Given the description of an element on the screen output the (x, y) to click on. 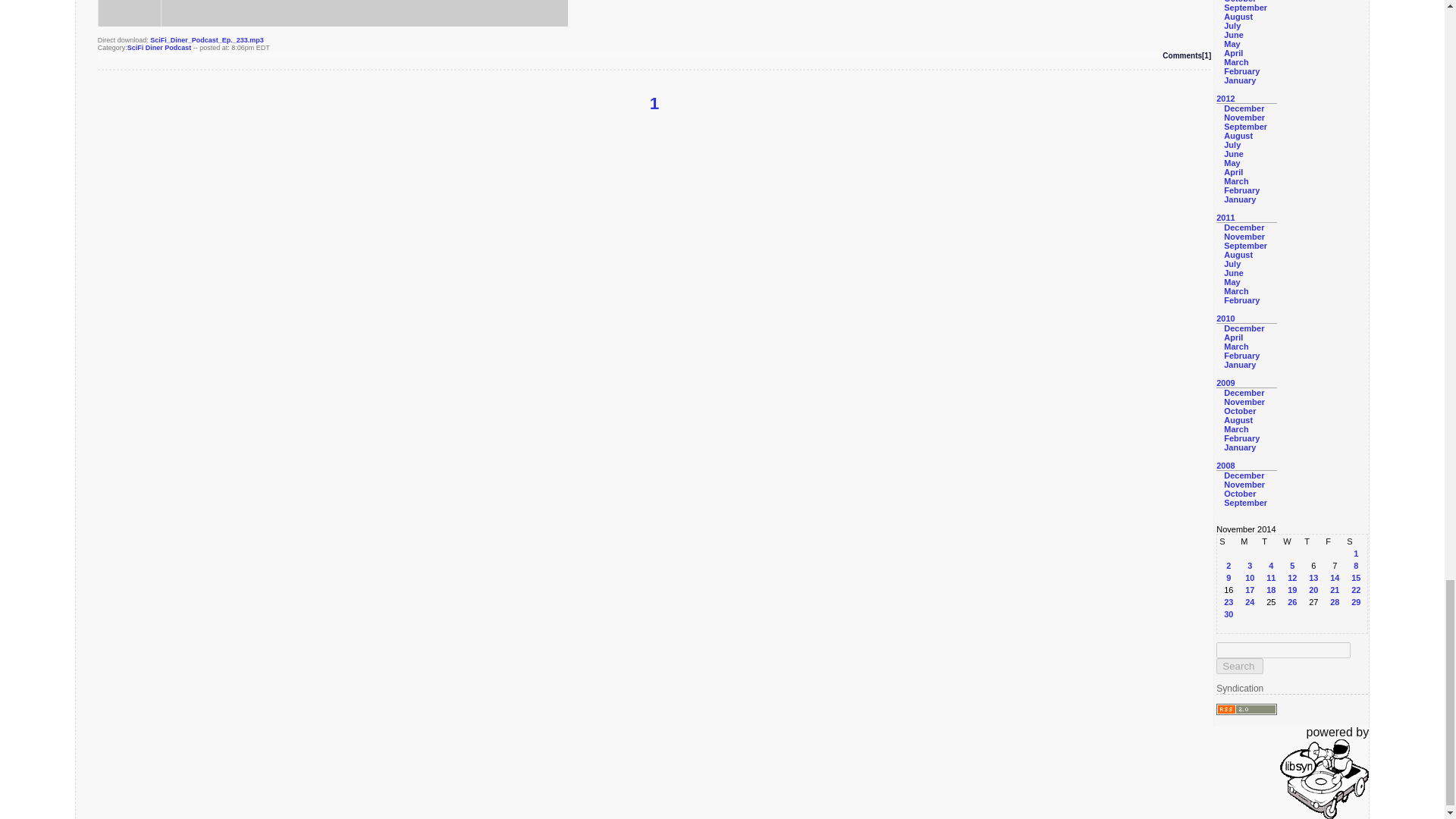
Monday (1249, 541)
Thursday (1313, 541)
Saturday (1355, 541)
Search  (1239, 666)
Tuesday (1270, 541)
Wednesday (1291, 541)
Friday (1333, 541)
Sunday (1228, 541)
